Given the description of an element on the screen output the (x, y) to click on. 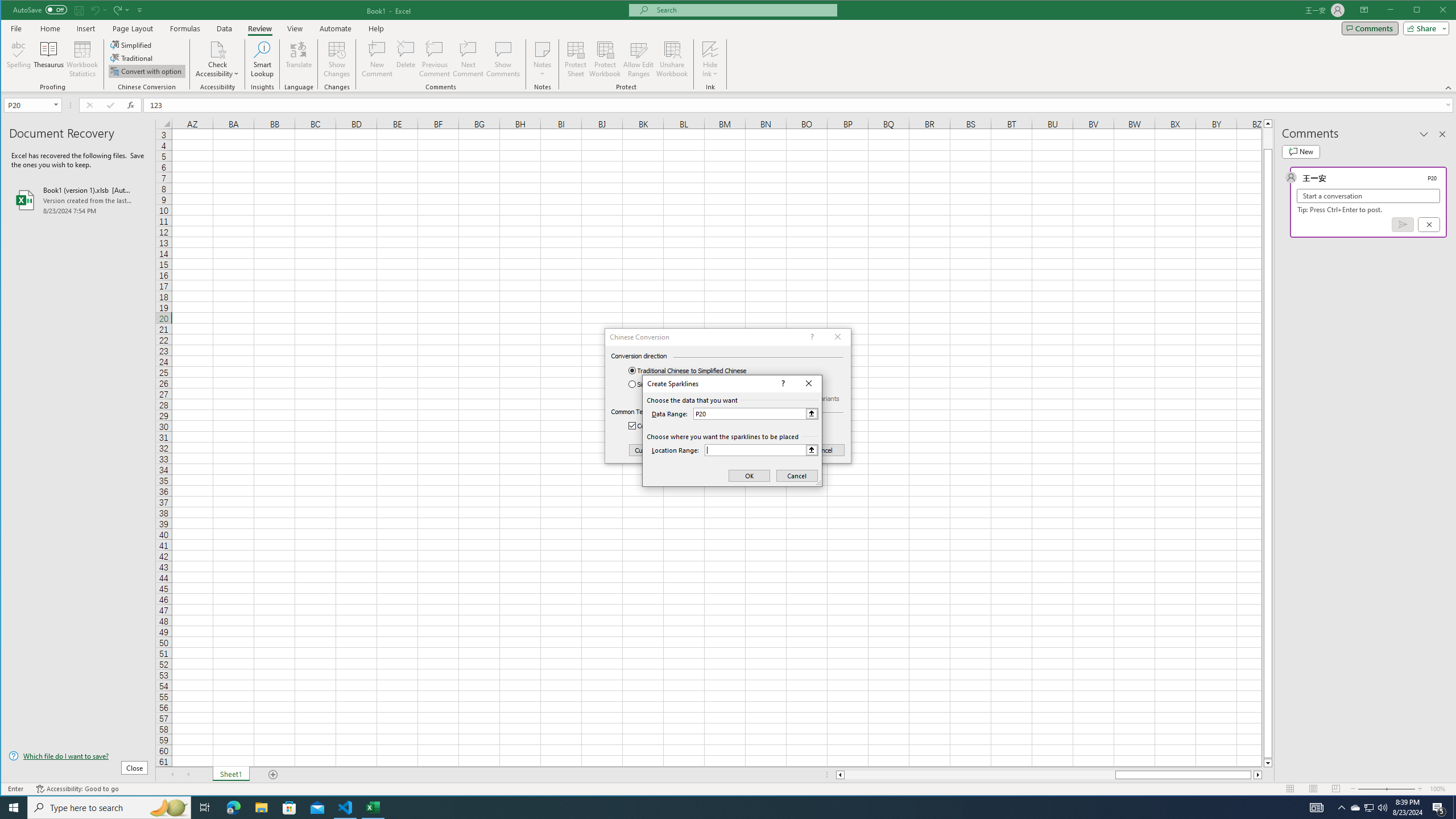
Hide Ink (710, 59)
Action Center, 5 new notifications (1439, 807)
Workbook Statistics (82, 59)
Start a conversation (1368, 195)
Running applications (717, 807)
Simplified (132, 44)
User Promoted Notification Area (1368, 807)
Location Range (761, 449)
